Given the description of an element on the screen output the (x, y) to click on. 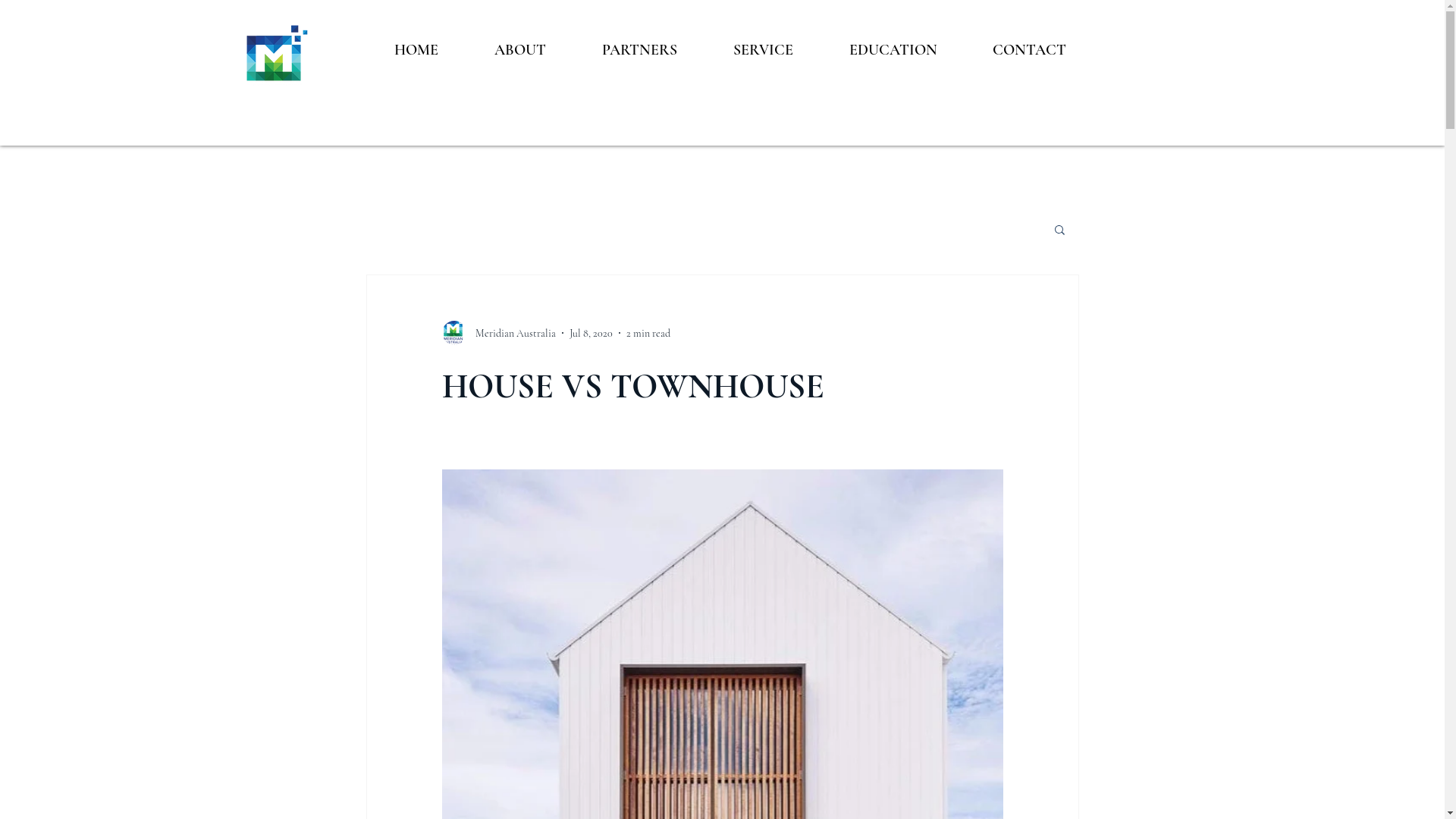
SERVICE Element type: text (763, 43)
EDUCATION Element type: text (892, 43)
HOME Element type: text (415, 43)
Meridian Australia Element type: text (498, 332)
CONTACT Element type: text (1028, 43)
PARTNERS Element type: text (638, 43)
ABOUT Element type: text (519, 43)
